Given the description of an element on the screen output the (x, y) to click on. 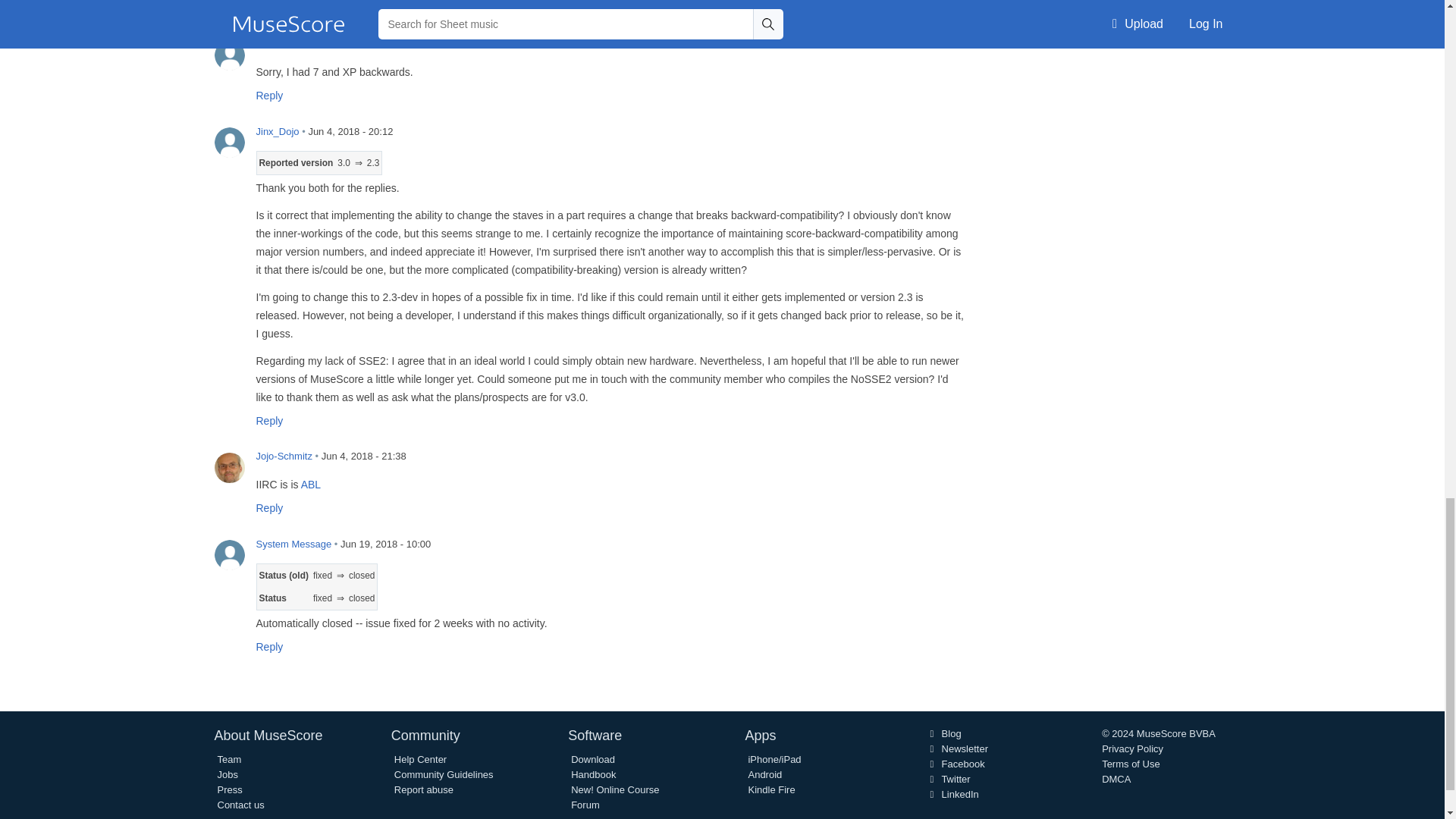
System Message (229, 554)
Jojo-Schmitz (229, 467)
mike320 (229, 55)
